Given the description of an element on the screen output the (x, y) to click on. 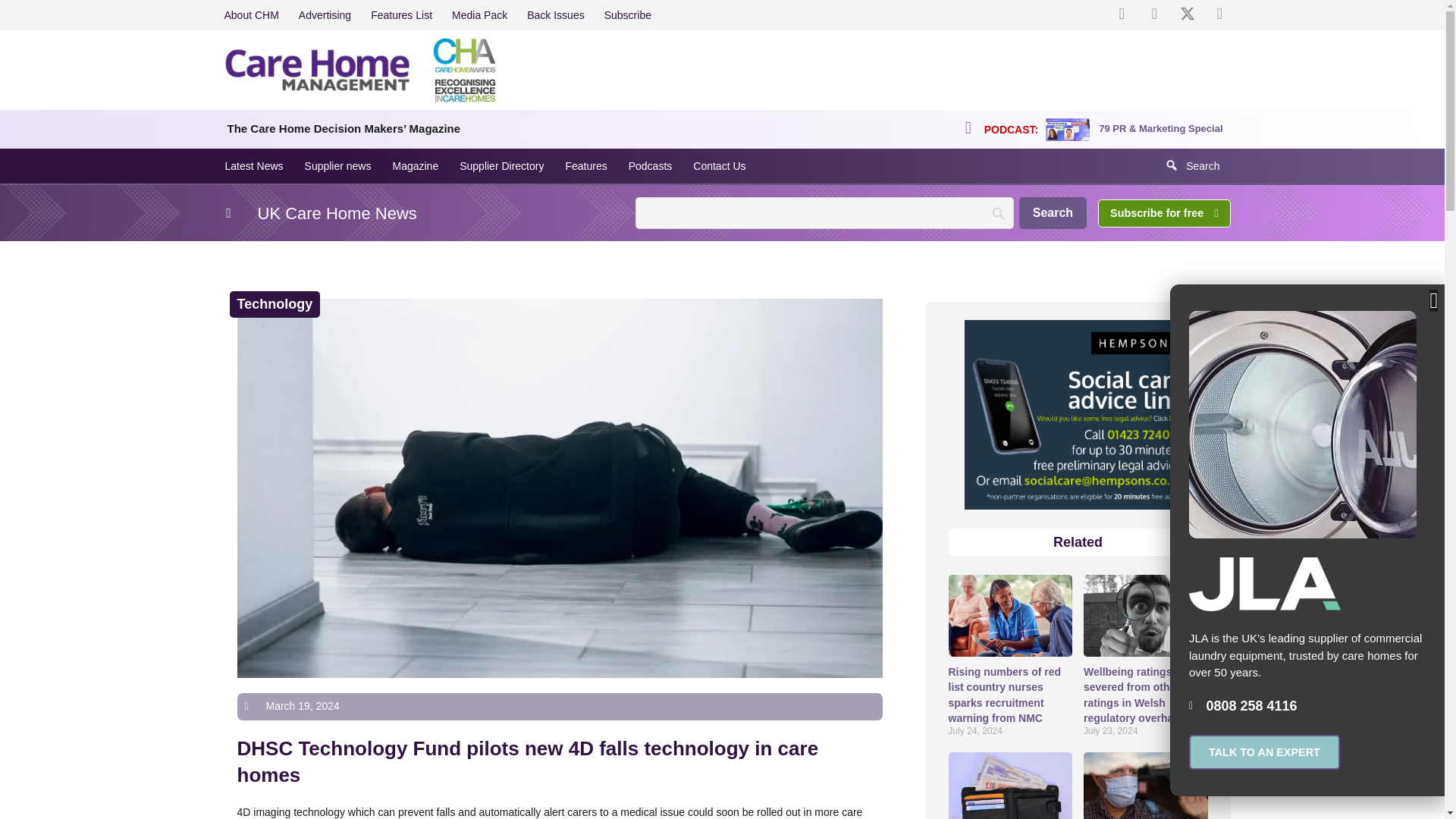
Latest News (254, 165)
Advertising Opportunities (324, 15)
Features List (401, 15)
Search (1052, 213)
Magazine (414, 165)
Supplier news (337, 165)
Podcasts (649, 165)
Media Pack (479, 15)
Back Issues (555, 15)
Advertising (324, 15)
Media Pack (479, 15)
Search (1052, 213)
Features (585, 165)
Supplier Directory (501, 165)
Latest Supplier News (337, 165)
